Given the description of an element on the screen output the (x, y) to click on. 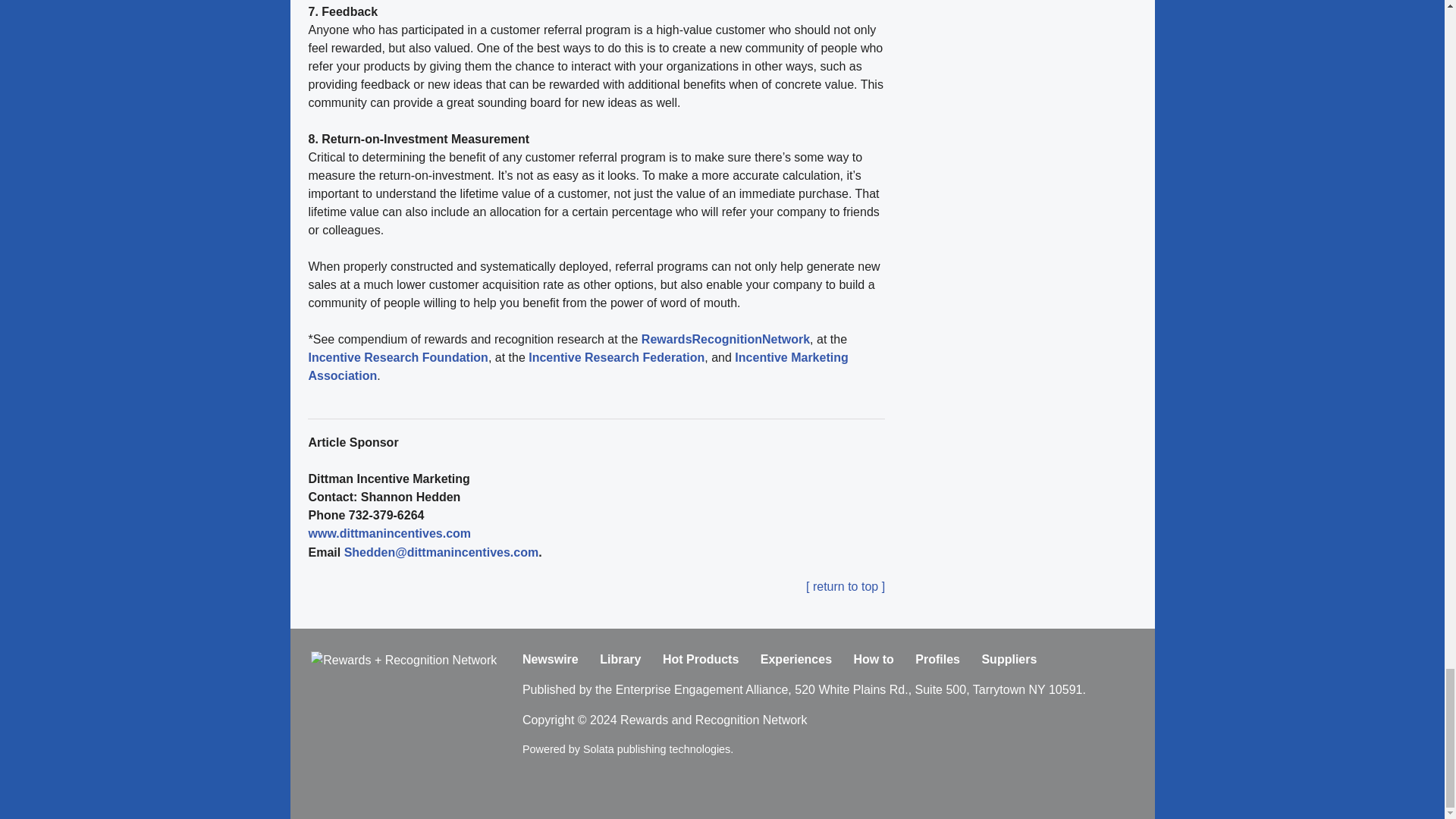
RewardsRecognitionNetwork (725, 338)
Incentive Research Foundation (397, 357)
Incentive Marketing Association (577, 366)
Incentive Research Federation (614, 357)
www.dittmanincentives.com (388, 533)
